Given the description of an element on the screen output the (x, y) to click on. 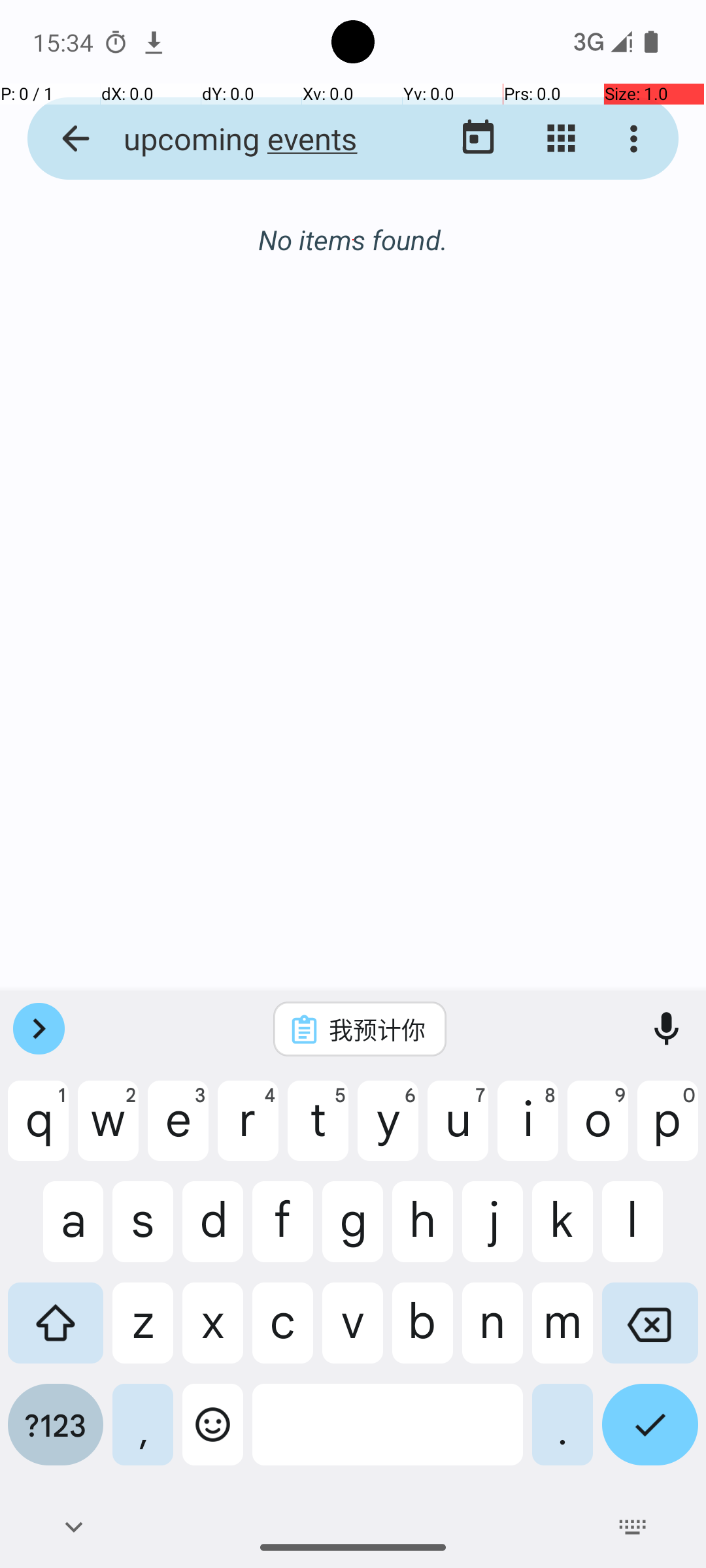
upcoming events Element type: android.widget.EditText (252, 138)
我预计你 Element type: android.widget.TextView (376, 1028)
